Given the description of an element on the screen output the (x, y) to click on. 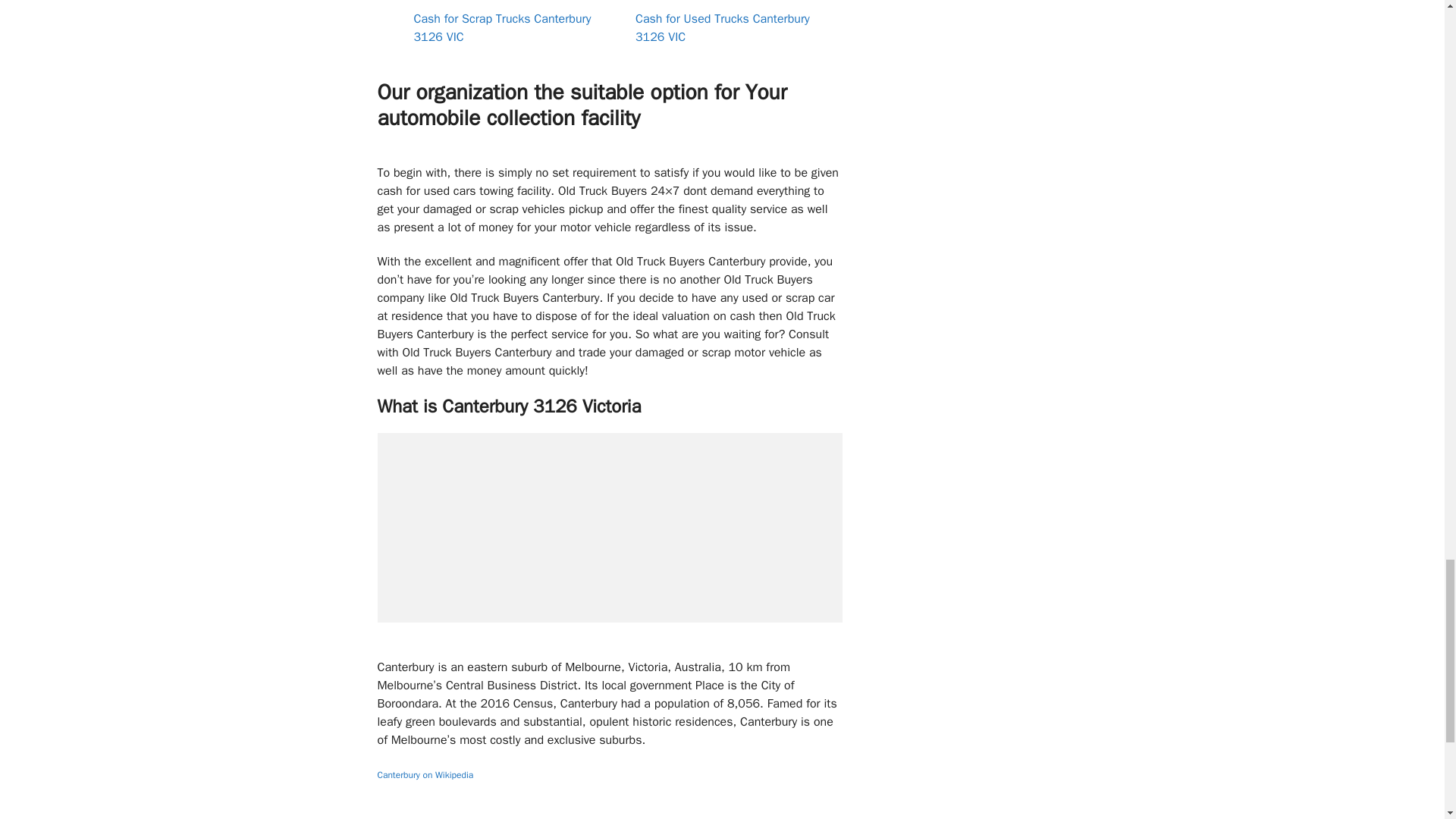
Cash for Scrap Trucks Canterbury 3126 VIC (502, 28)
Cash for Used Trucks Canterbury 3126 VIC (721, 28)
Canterbury on Wikipedia (425, 775)
